Given the description of an element on the screen output the (x, y) to click on. 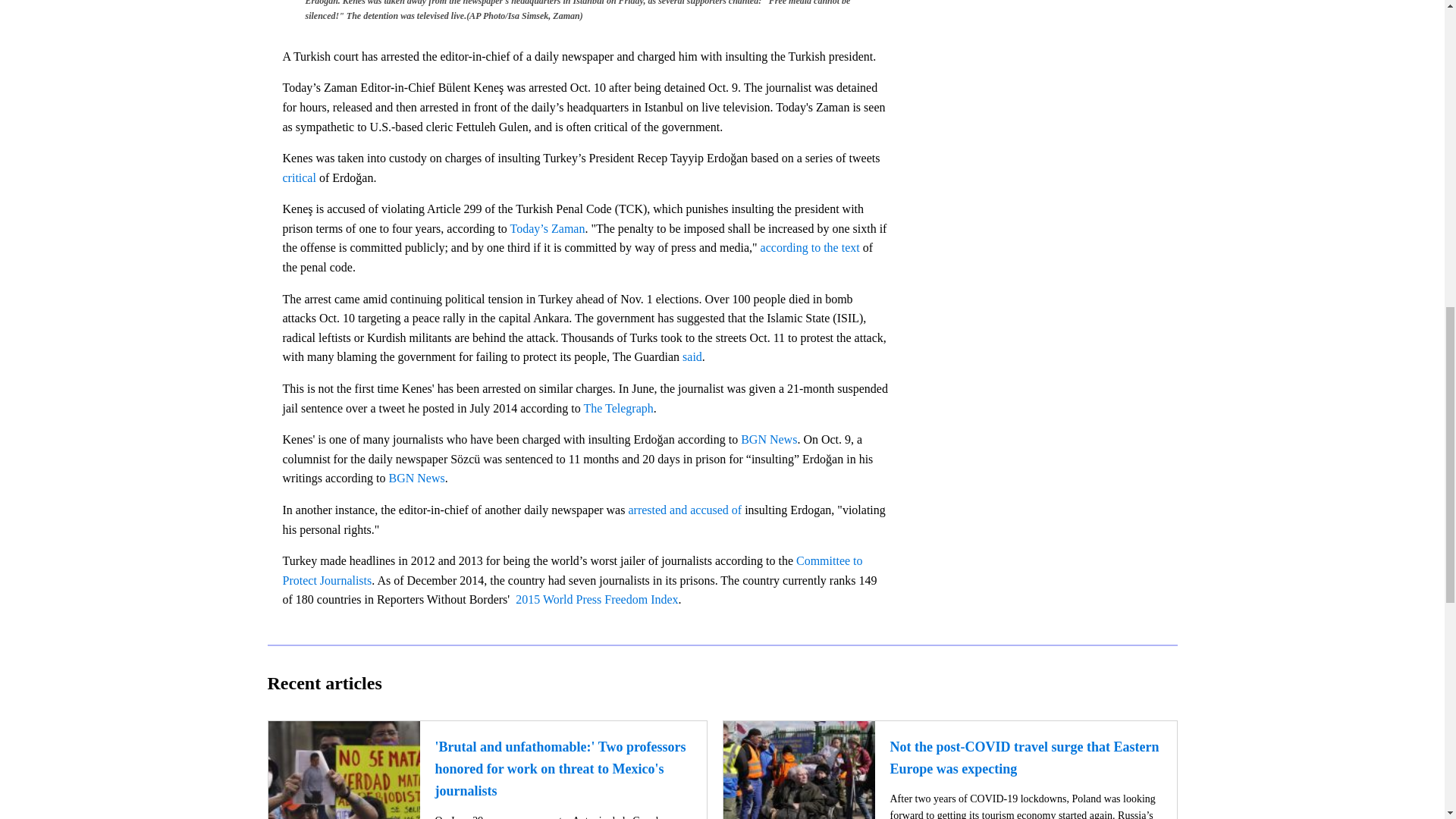
arrested and accused of (684, 509)
Committee to Protect Journalists (571, 570)
BGN News (768, 439)
The Telegraph (617, 408)
said (691, 356)
critical (298, 177)
according to the text (810, 246)
BGN News (414, 477)
2015 World Press Freedom Index (596, 599)
